Given the description of an element on the screen output the (x, y) to click on. 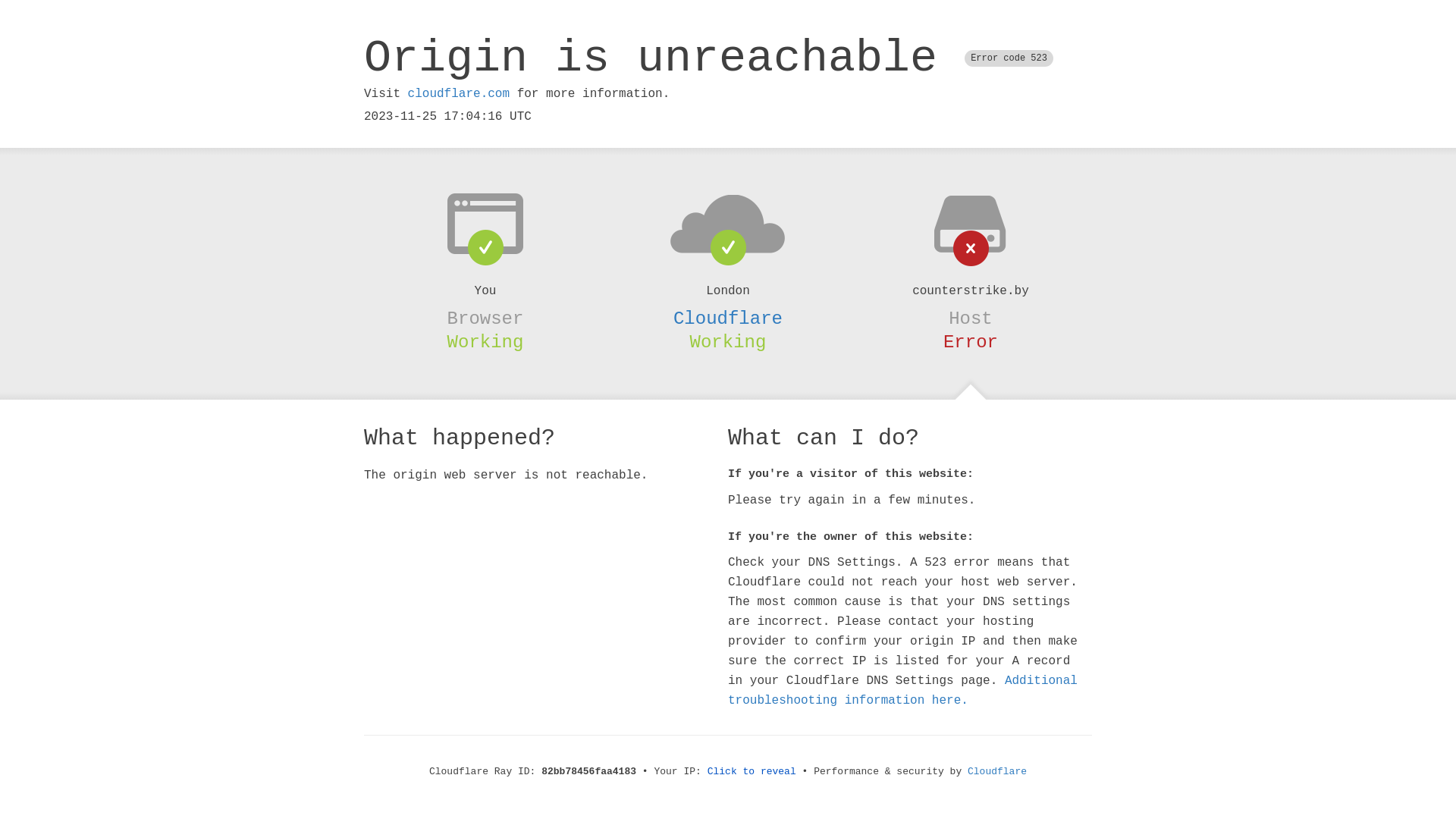
Click to reveal Element type: text (751, 771)
Cloudflare Element type: text (996, 771)
Cloudflare Element type: text (727, 318)
cloudflare.com Element type: text (458, 93)
Additional troubleshooting information here. Element type: text (902, 690)
